Given the description of an element on the screen output the (x, y) to click on. 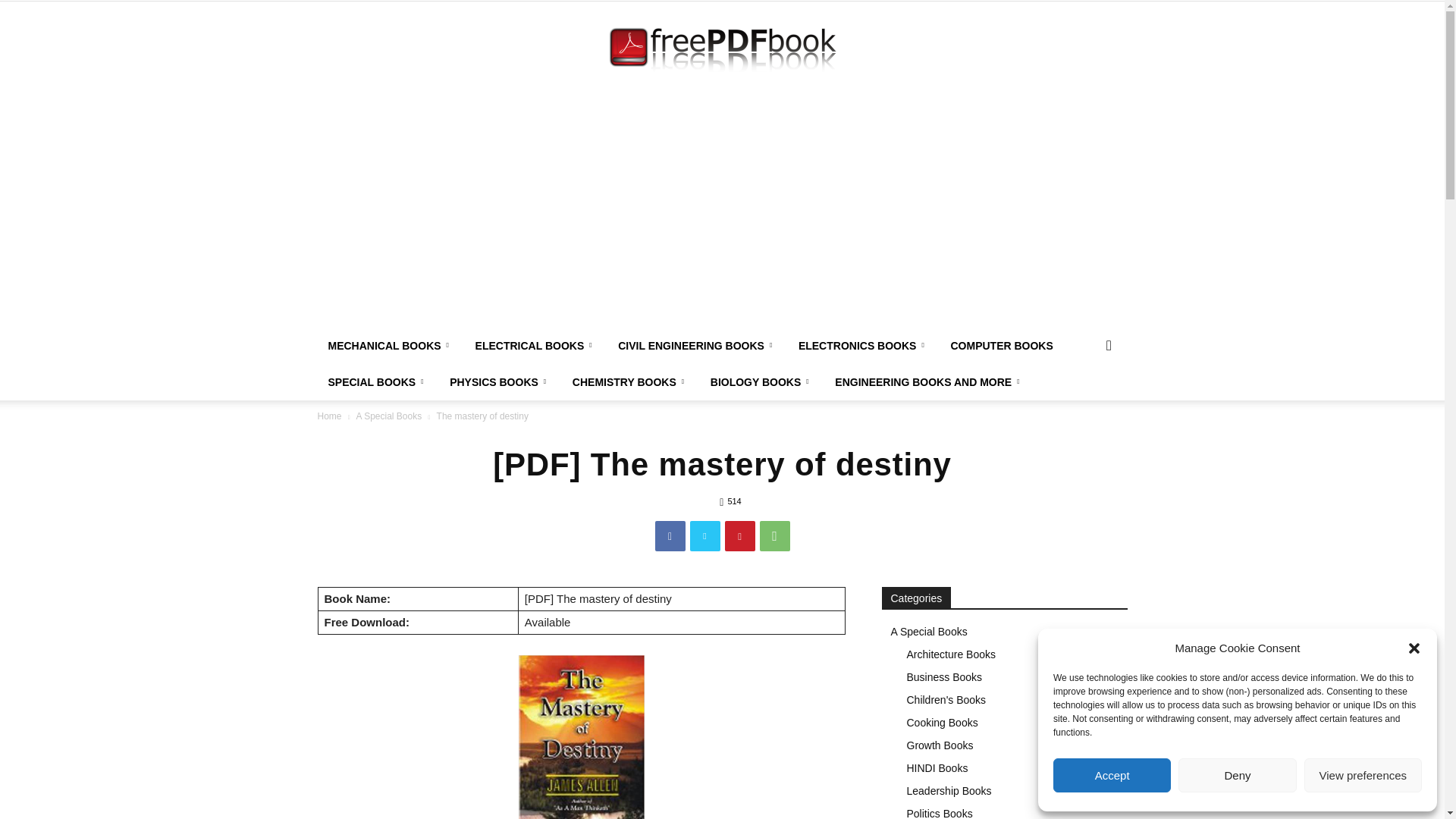
View preferences (1363, 775)
Deny (1236, 775)
Accept (1111, 775)
